Given the description of an element on the screen output the (x, y) to click on. 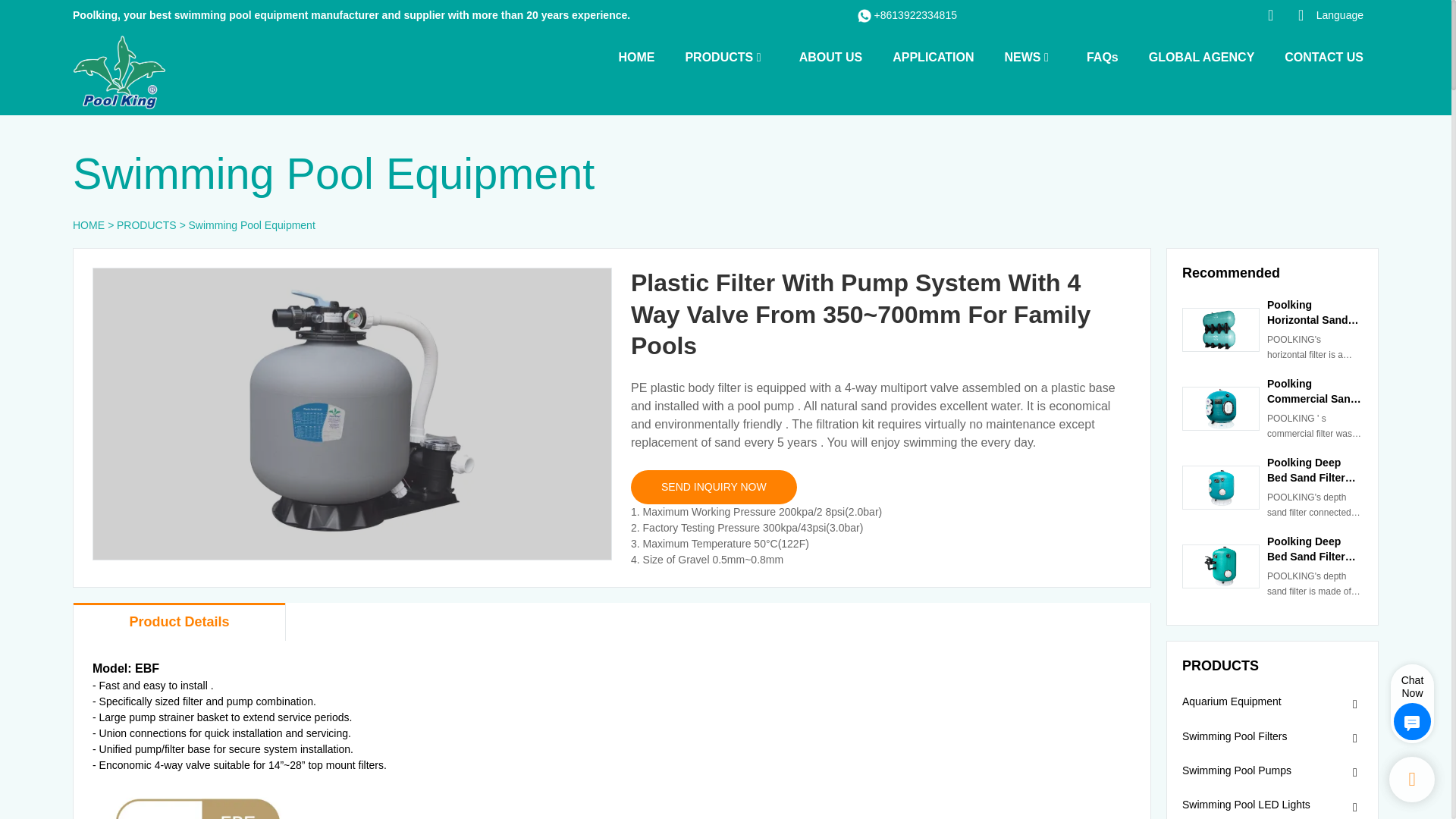
youtube (1172, 15)
linkedin (1202, 15)
HOME (635, 56)
facebook (1141, 15)
PRODUCTS (718, 56)
